Given the description of an element on the screen output the (x, y) to click on. 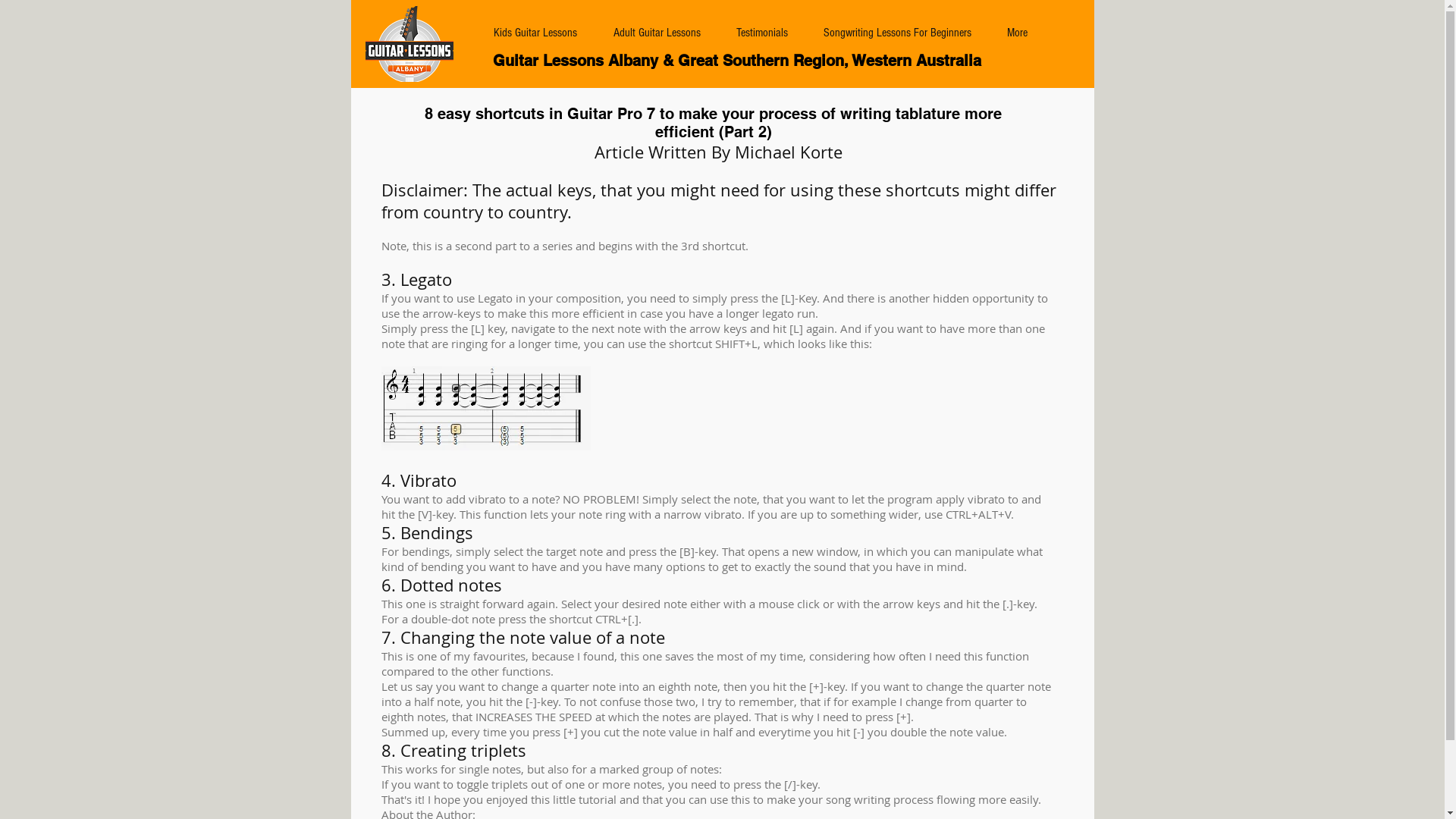
Adult Guitar Lessons Element type: text (656, 32)
Kids Guitar Lessons Element type: text (534, 32)
Testimonials Element type: text (762, 32)
Songwriting Lessons For Beginners Element type: text (896, 32)
